Given the description of an element on the screen output the (x, y) to click on. 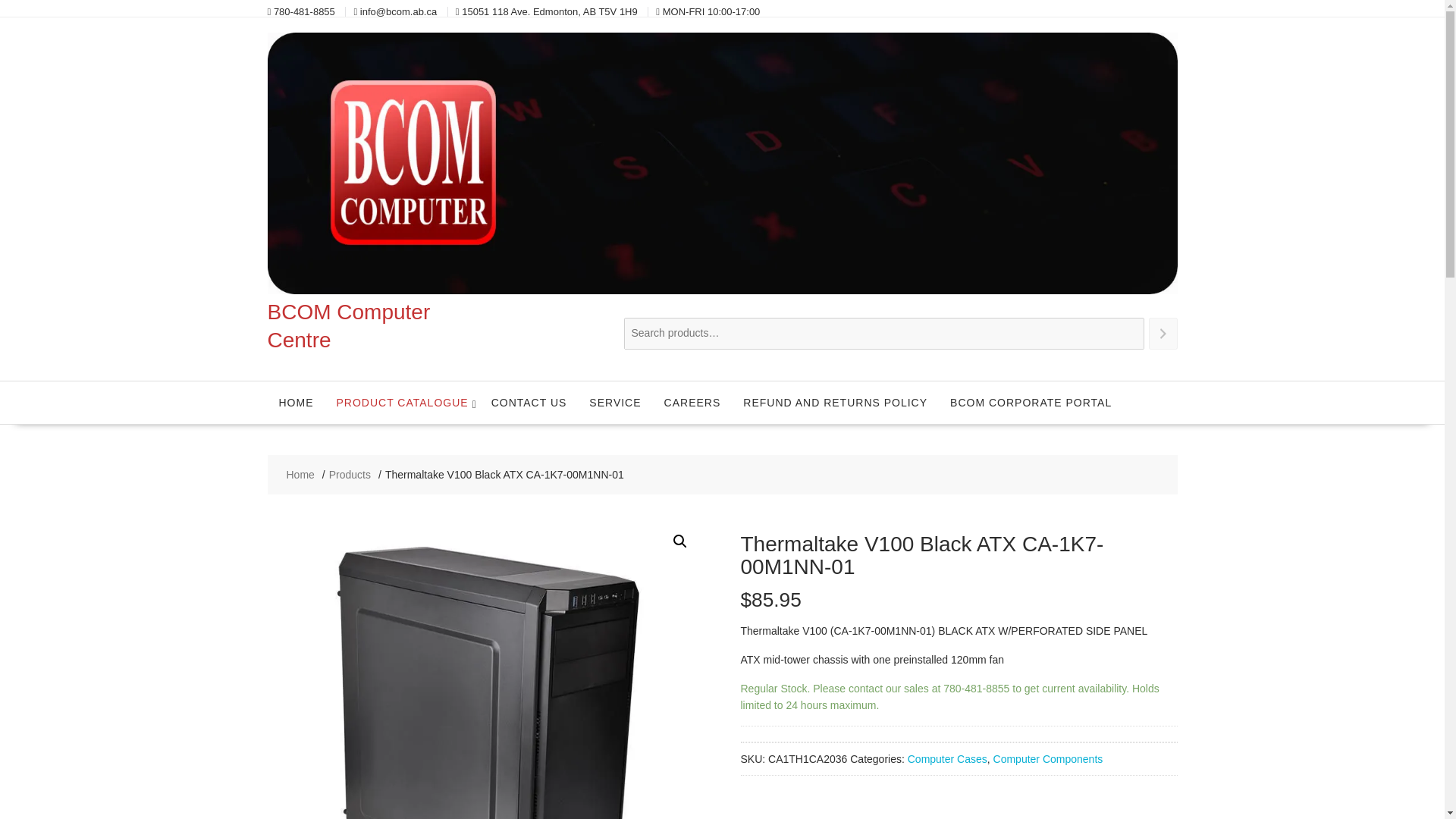
780-481-8855 (303, 11)
V100 (484, 667)
HOME (295, 402)
PRODUCT CATALOGUE (401, 402)
15051 118 Ave. Edmonton, AB T5V 1H9 (549, 11)
BCOM Computer Centre (721, 290)
BCOM Computer Centre (347, 325)
